Given the description of an element on the screen output the (x, y) to click on. 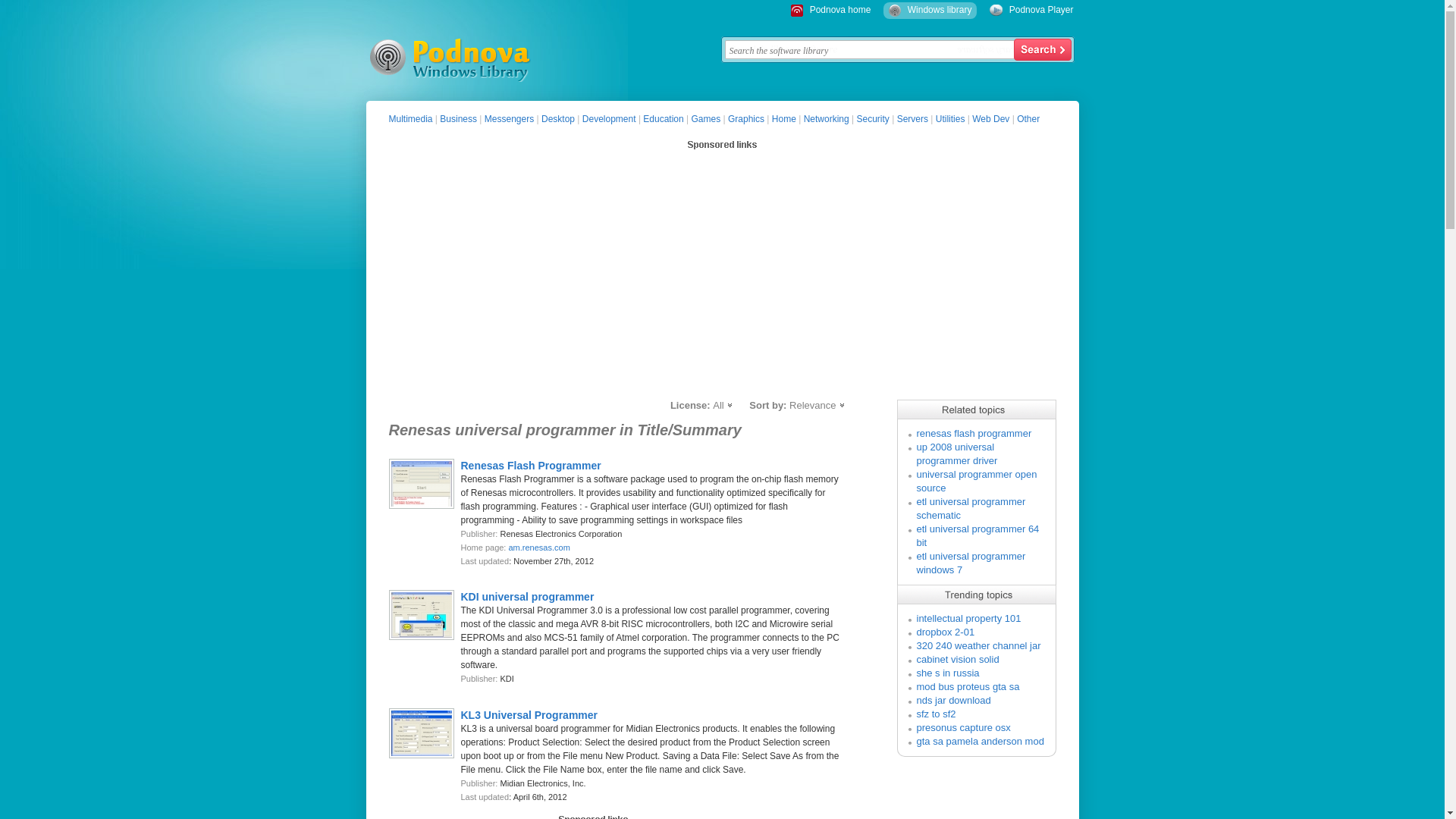
am.renesas.com (538, 547)
Web Dev (990, 118)
Development (609, 118)
Podnova Player (1041, 9)
KL3 Universal Programmer (529, 714)
KDI universal programmer (527, 596)
Renesas Flash Programmer (531, 465)
Business (458, 118)
Servers (912, 118)
Messengers (509, 118)
